Given the description of an element on the screen output the (x, y) to click on. 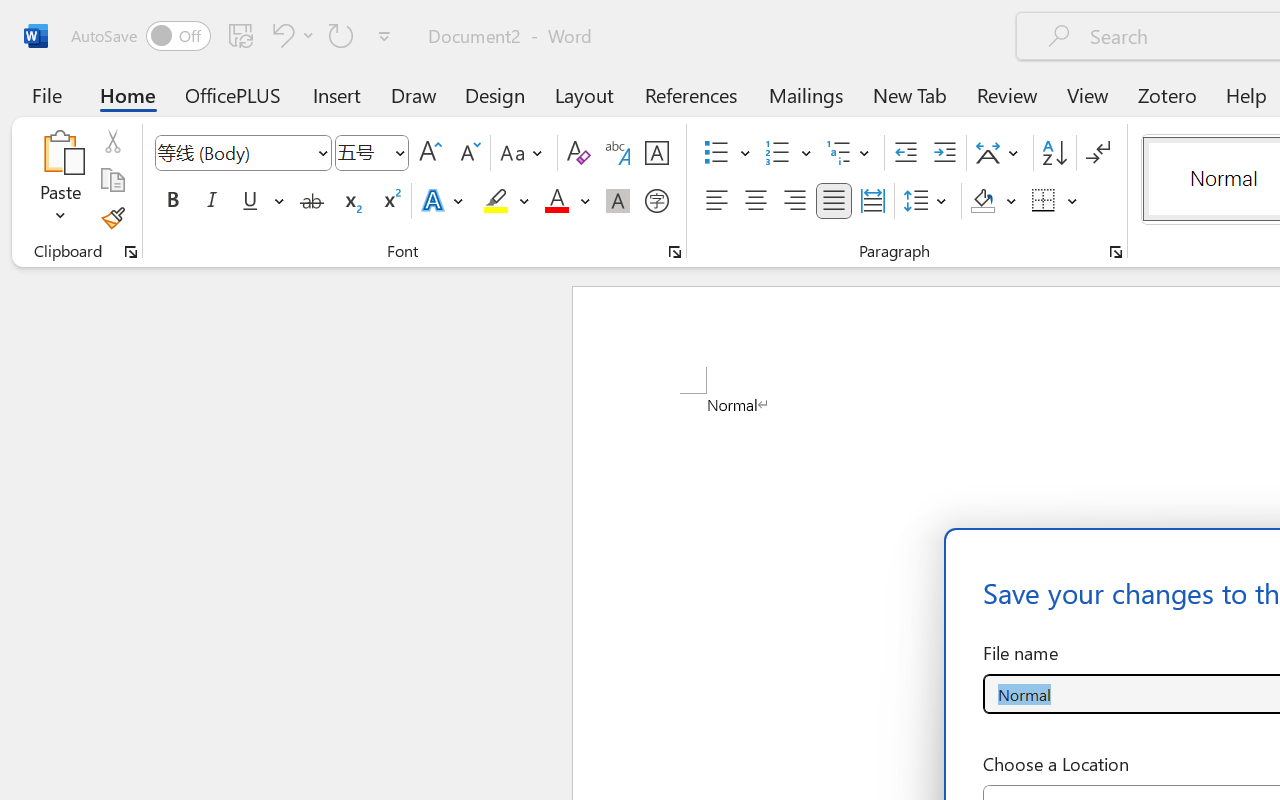
Mailings (806, 94)
Line and Paragraph Spacing (927, 201)
Increase Indent (944, 153)
OfficePLUS (233, 94)
Design (495, 94)
Borders (1044, 201)
New Tab (909, 94)
Change Case (524, 153)
Text Effects and Typography (444, 201)
References (690, 94)
Office Clipboard... (131, 252)
Sort... (1054, 153)
Font... (675, 252)
Multilevel List (850, 153)
